Given the description of an element on the screen output the (x, y) to click on. 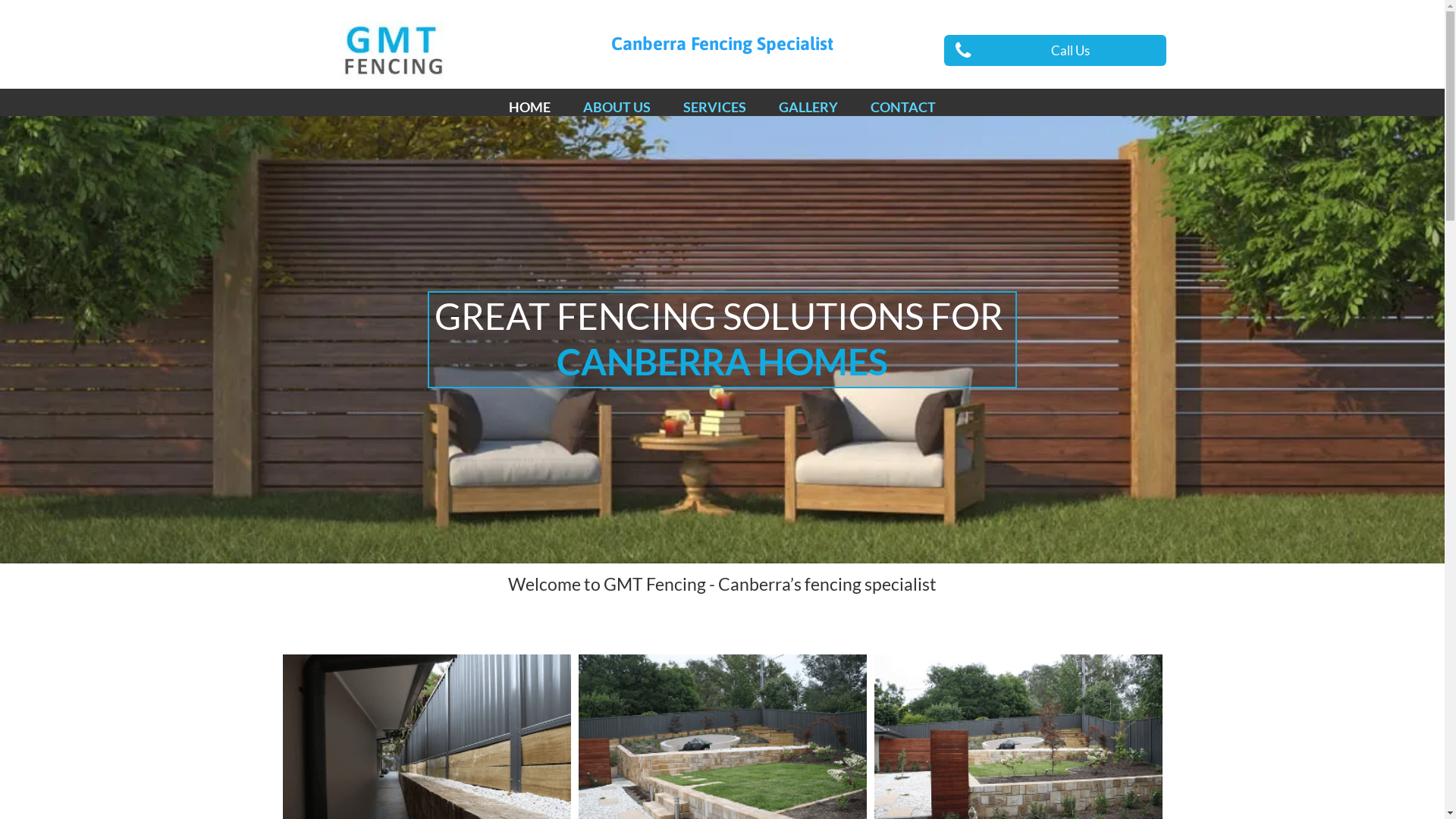
ABOUT US Element type: text (616, 107)
HOME Element type: text (529, 107)
CONTACT Element type: text (902, 107)
SERVICES Element type: text (714, 107)
Call Us Element type: text (1055, 49)
GALLERY Element type: text (807, 107)
logo gmt1 Element type: hover (390, 49)
